Given the description of an element on the screen output the (x, y) to click on. 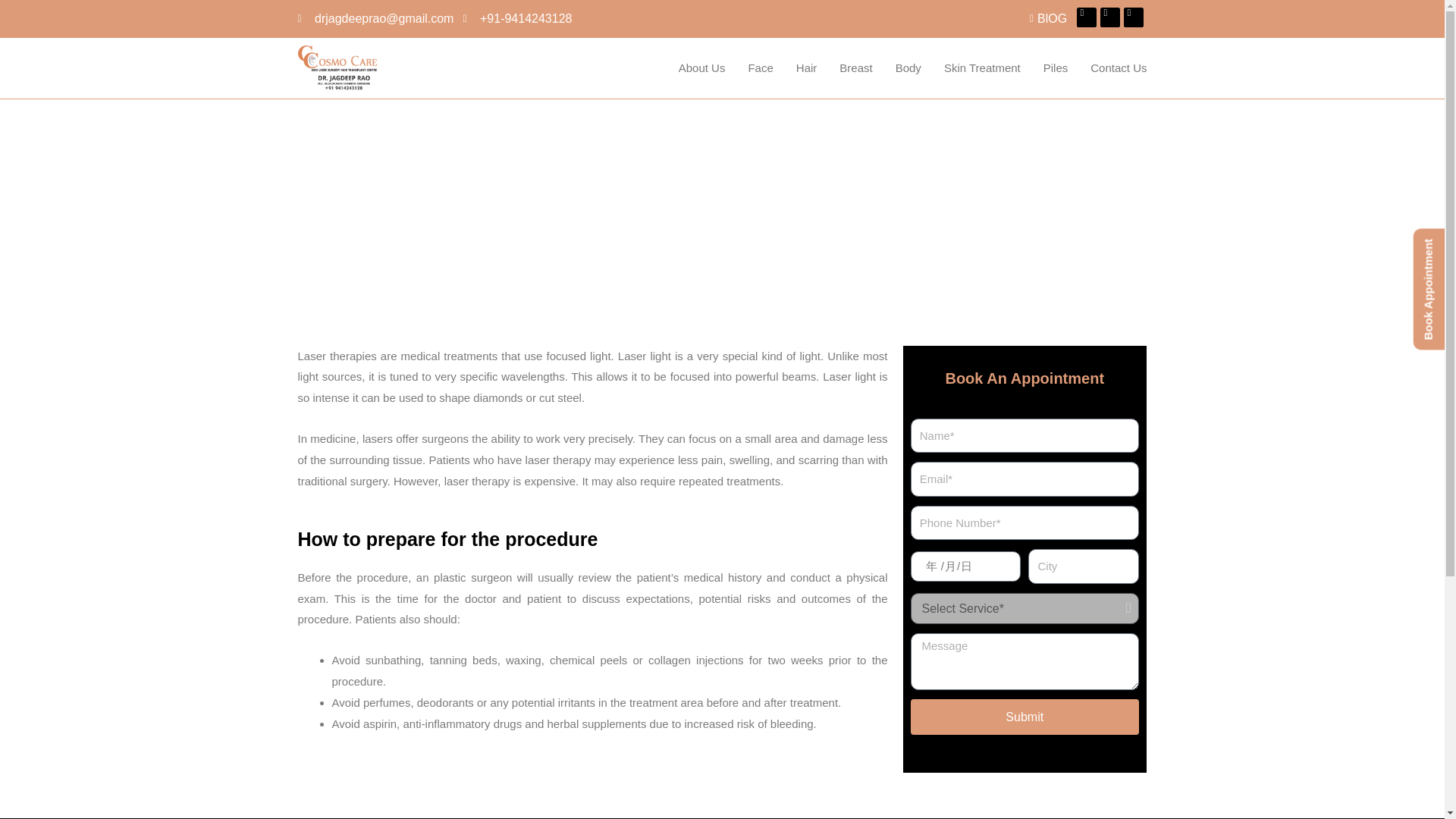
About Us (702, 68)
Body (908, 68)
Facebook (1086, 17)
Youtube (1133, 17)
Breast (855, 68)
Face (759, 68)
Skin Treatment (981, 68)
BlOG (1039, 18)
Instagram (1109, 17)
Hair (807, 68)
